Given the description of an element on the screen output the (x, y) to click on. 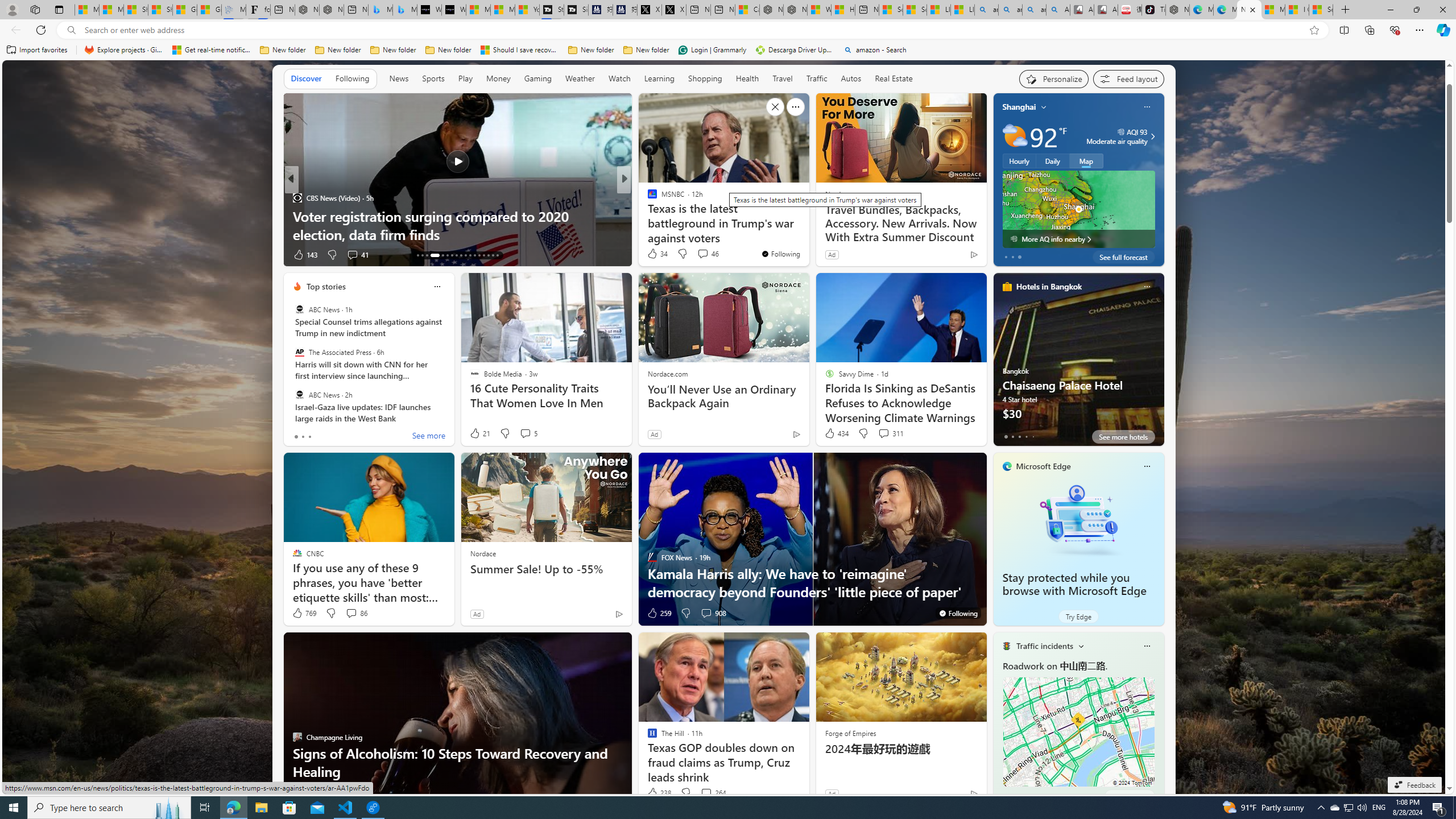
BRAINY DOSE (647, 215)
Eat This, Not That! (296, 215)
Real Estate (893, 79)
I Gained 20 Pounds of Muscle in 30 Days! | Watch (1296, 9)
Autos (851, 78)
tab-4 (1032, 795)
95 Like (652, 254)
20 Like (652, 254)
tab-3 (1025, 795)
Search icon (70, 29)
Like (298, 254)
